Given the description of an element on the screen output the (x, y) to click on. 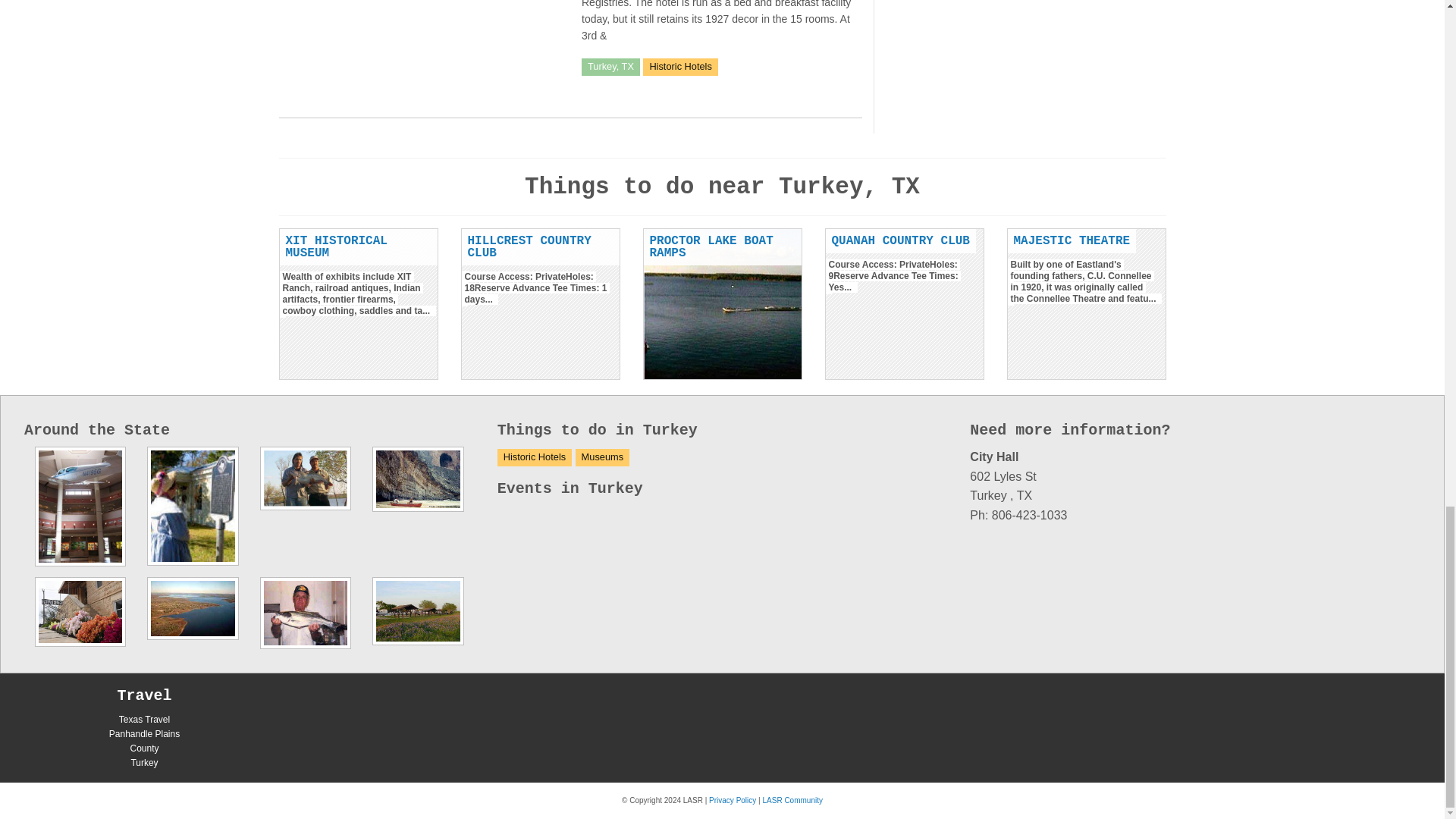
Turkey, TX (610, 66)
Historic Hotels (680, 66)
XIT HISTORICAL MUSEUM (336, 247)
MAJESTIC THEATRE (1071, 241)
HILLCREST COUNTRY CLUB (529, 247)
QUANAH COUNTRY CLUB (900, 241)
PROCTOR LAKE BOAT RAMPS (711, 247)
